Given the description of an element on the screen output the (x, y) to click on. 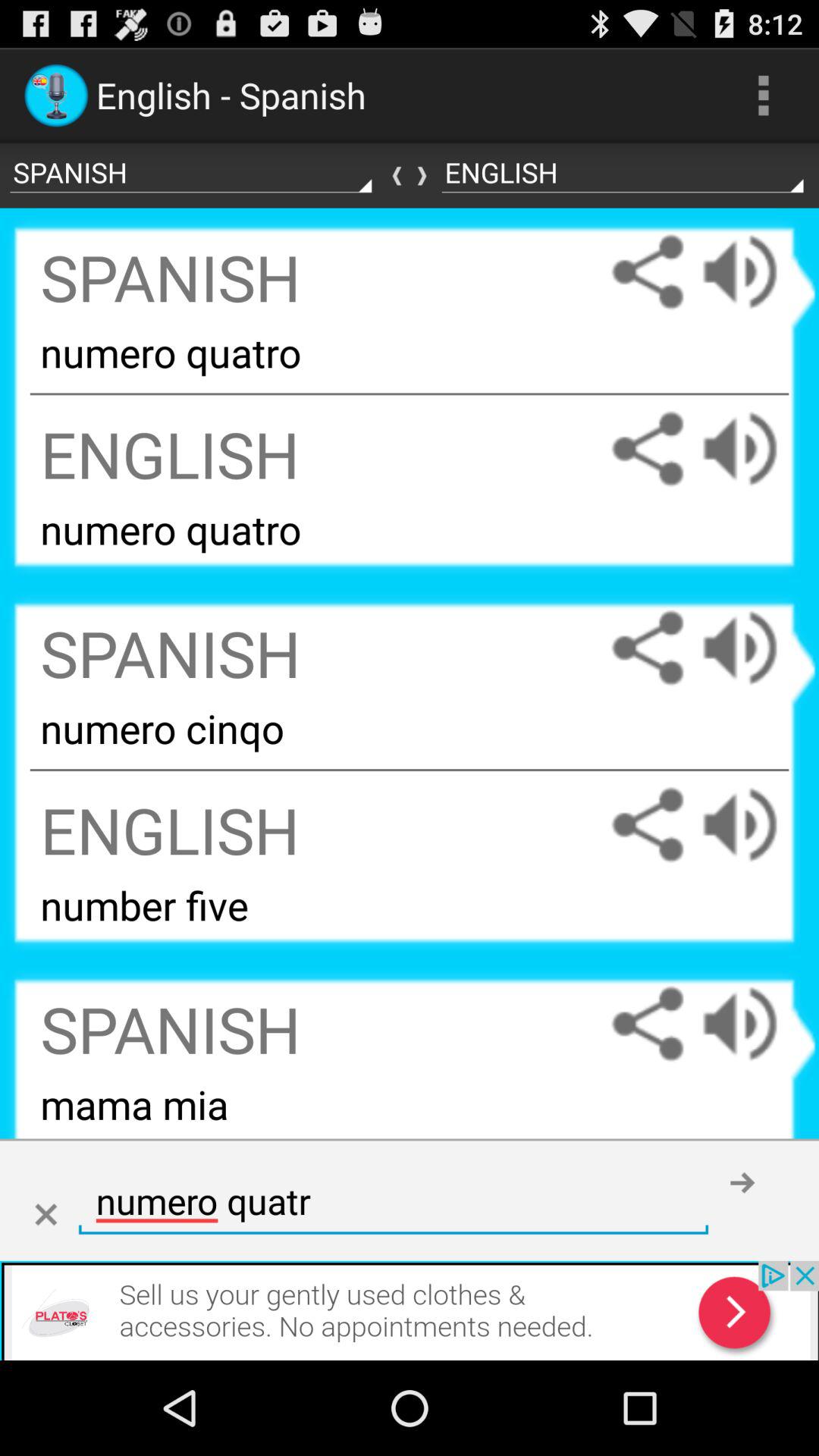
next button (742, 1182)
